Given the description of an element on the screen output the (x, y) to click on. 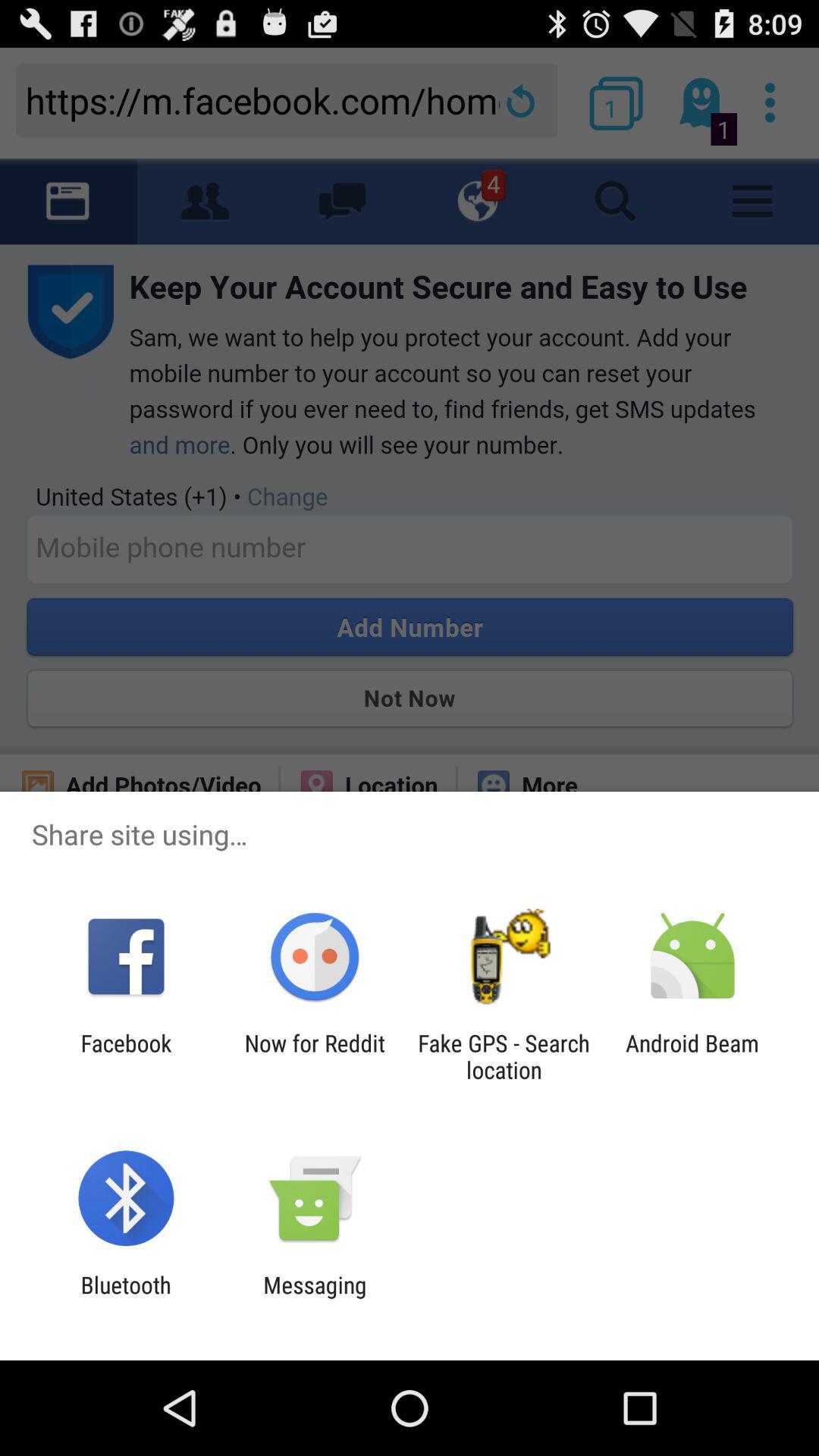
turn off bluetooth (125, 1298)
